Given the description of an element on the screen output the (x, y) to click on. 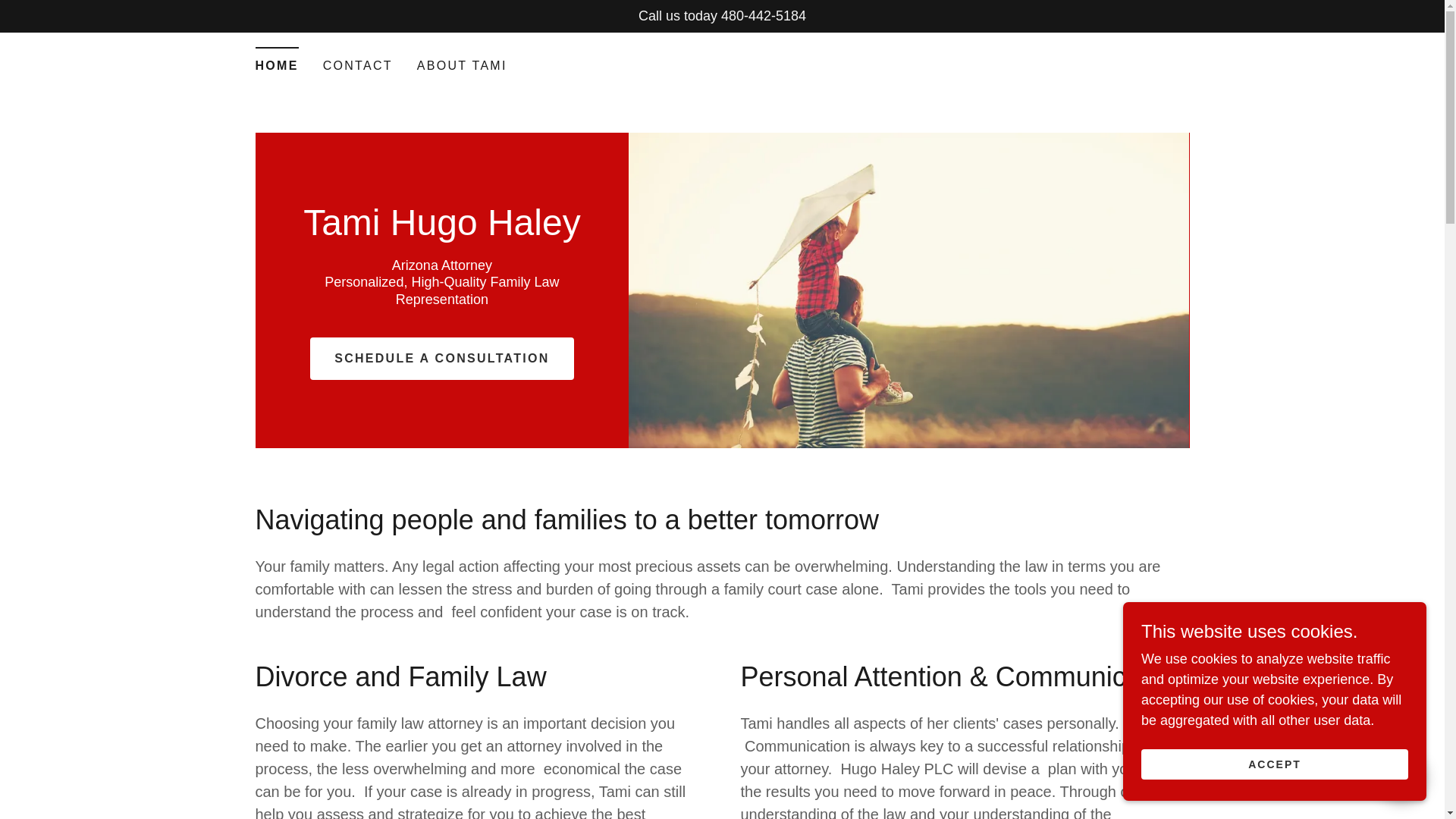
SCHEDULE A CONSULTATION (441, 358)
CONTACT (357, 65)
ABOUT TAMI (462, 65)
HOME (276, 60)
Tami Hugo Haley (441, 230)
Tami Hugo Haley      (441, 230)
ACCEPT (1274, 764)
